Given the description of an element on the screen output the (x, y) to click on. 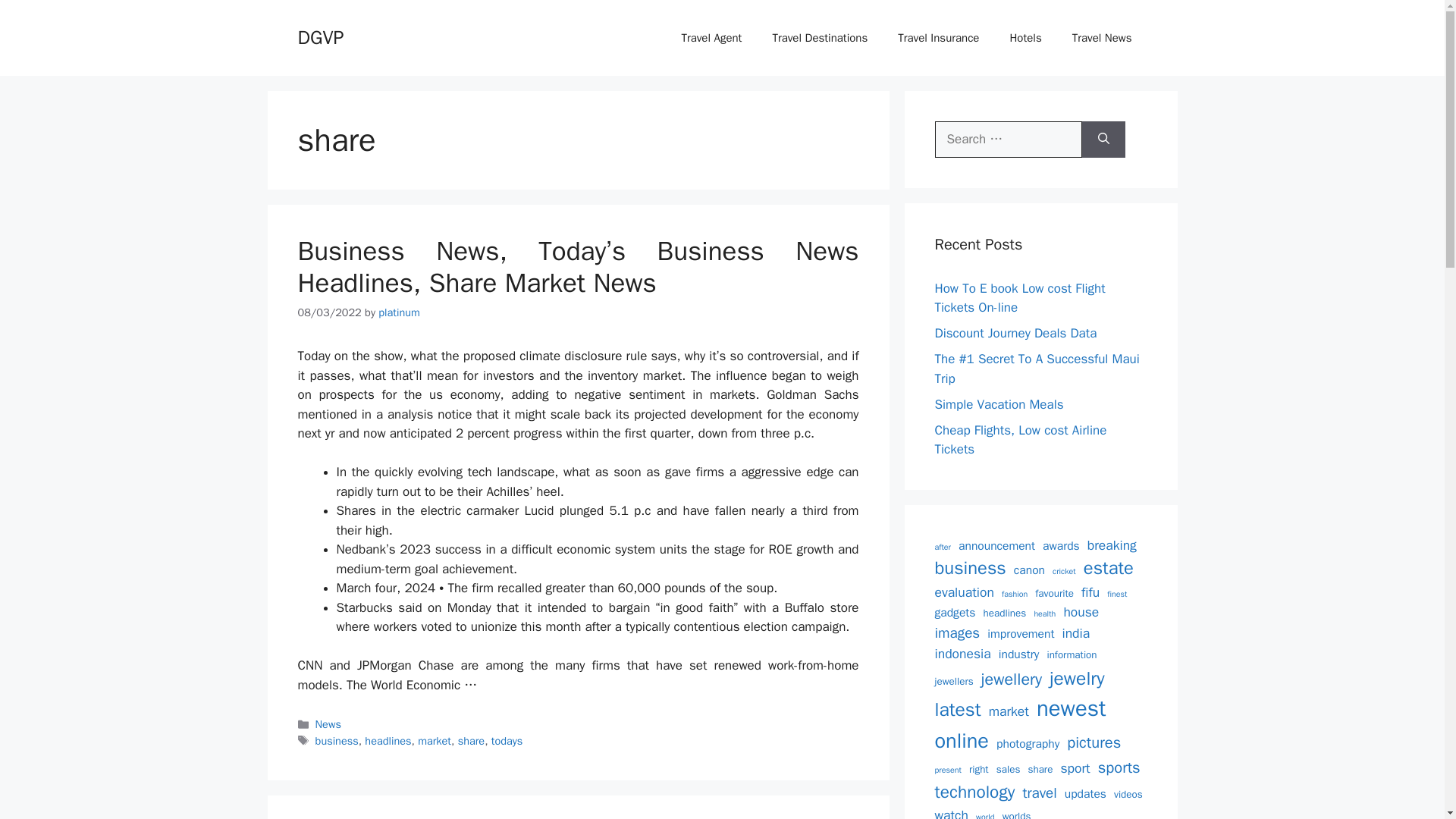
News (327, 724)
Travel Destinations (819, 37)
Hotels (1025, 37)
View all posts by platinum (398, 312)
platinum (398, 312)
Travel News (1102, 37)
DGVP (320, 37)
market (434, 740)
share (471, 740)
Search for: (1007, 139)
business (336, 740)
headlines (387, 740)
Travel Agent (711, 37)
Travel Insurance (938, 37)
todays (507, 740)
